Given the description of an element on the screen output the (x, y) to click on. 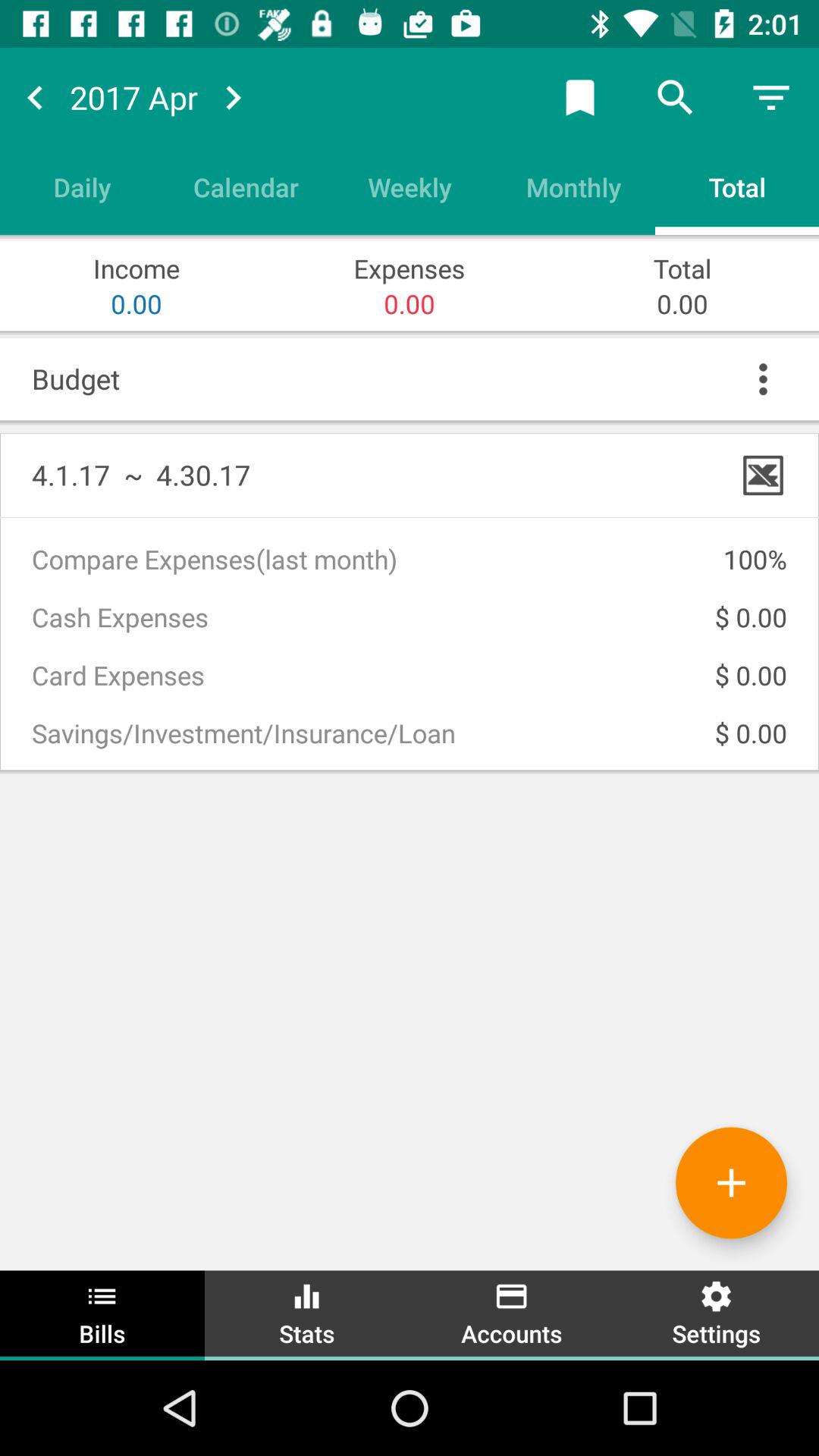
choose item to the left of calendar (81, 186)
